Given the description of an element on the screen output the (x, y) to click on. 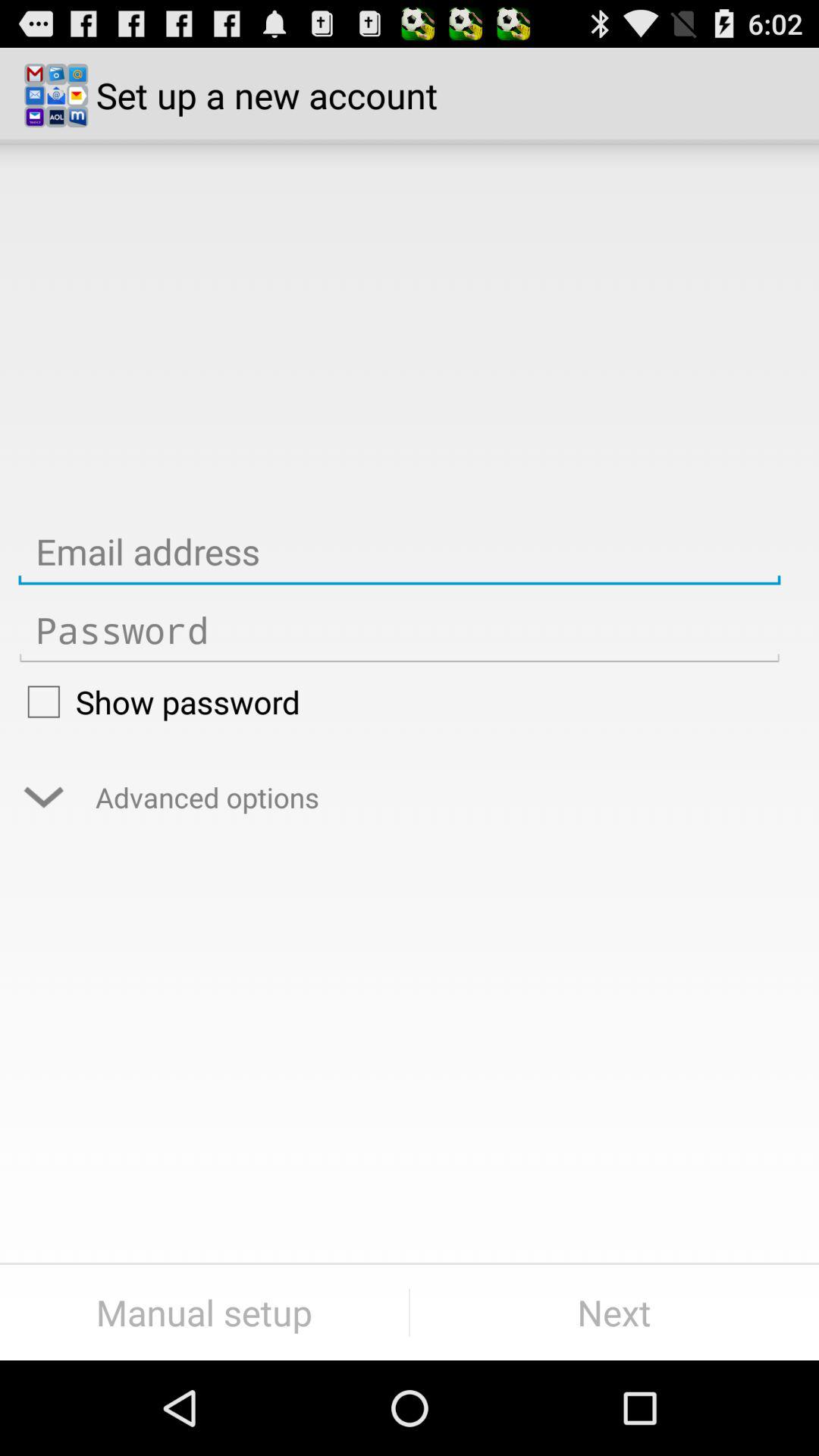
click next at the bottom right corner (614, 1312)
